Given the description of an element on the screen output the (x, y) to click on. 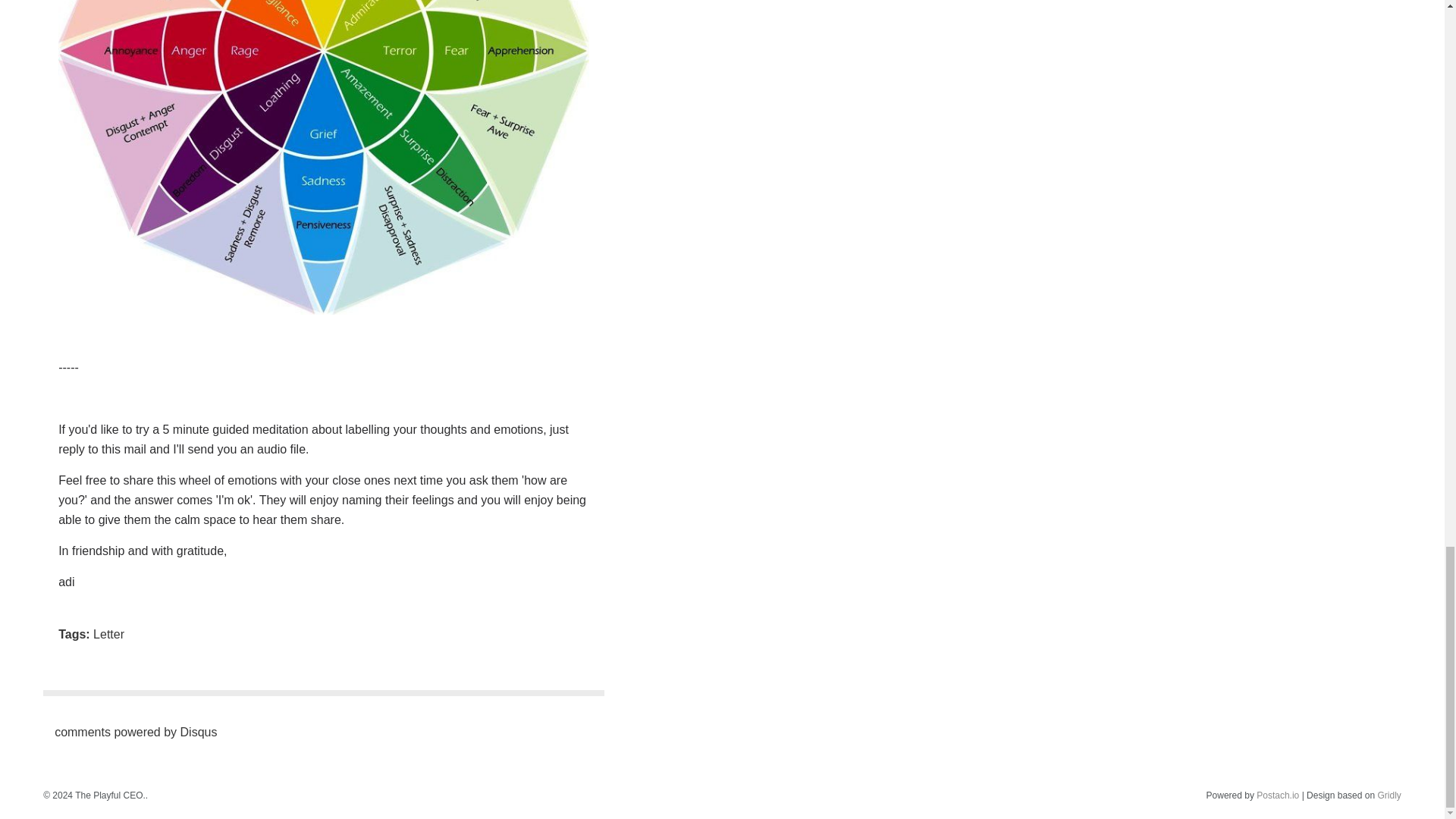
Postach.io (1277, 795)
comments powered by Disqus (135, 731)
Letter (108, 634)
Gridly (1388, 795)
